Given the description of an element on the screen output the (x, y) to click on. 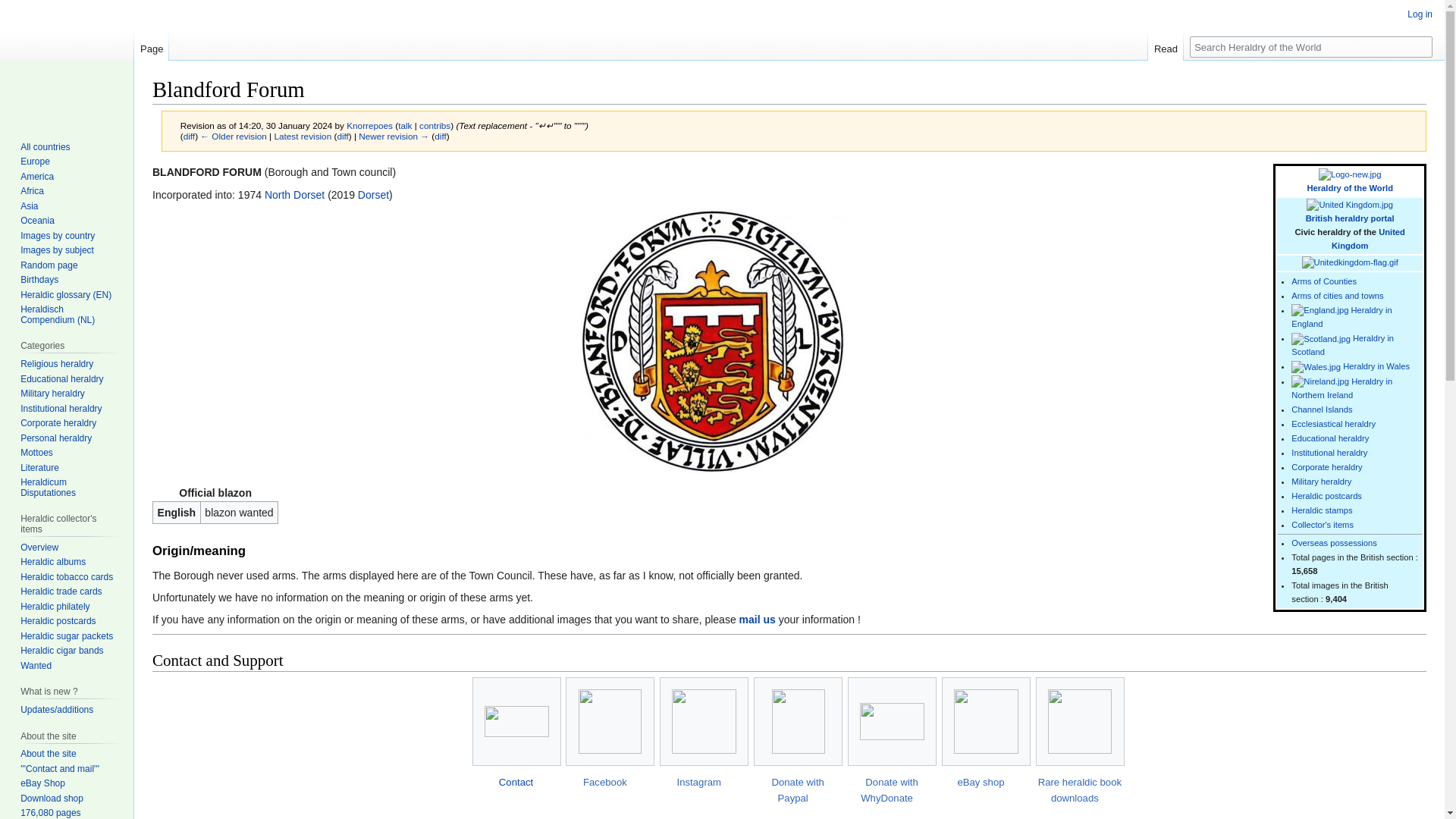
contribs (434, 125)
Overseas possessions (1334, 542)
Knorrepoes (369, 125)
Blandford Forum (302, 135)
Blandford Forum (439, 135)
Military heraldry (1321, 481)
Blandford Forum (189, 135)
Heraldry of the World (1349, 187)
Category:Scotland (1342, 344)
Educational heraldry (1329, 438)
